Given the description of an element on the screen output the (x, y) to click on. 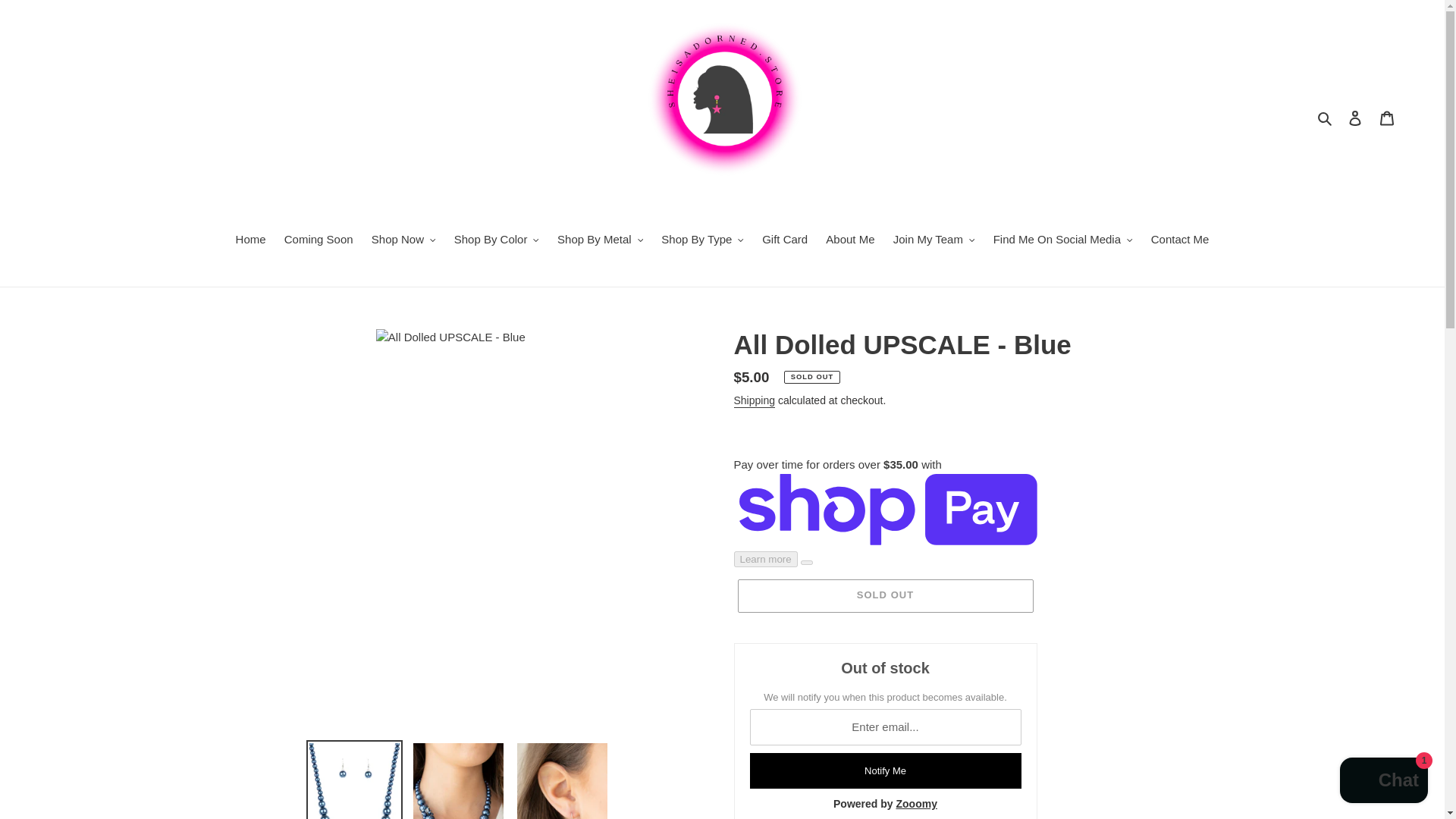
Log in (1355, 117)
Shopify online store chat (1383, 781)
Search (1326, 117)
Cart (1387, 117)
